Given the description of an element on the screen output the (x, y) to click on. 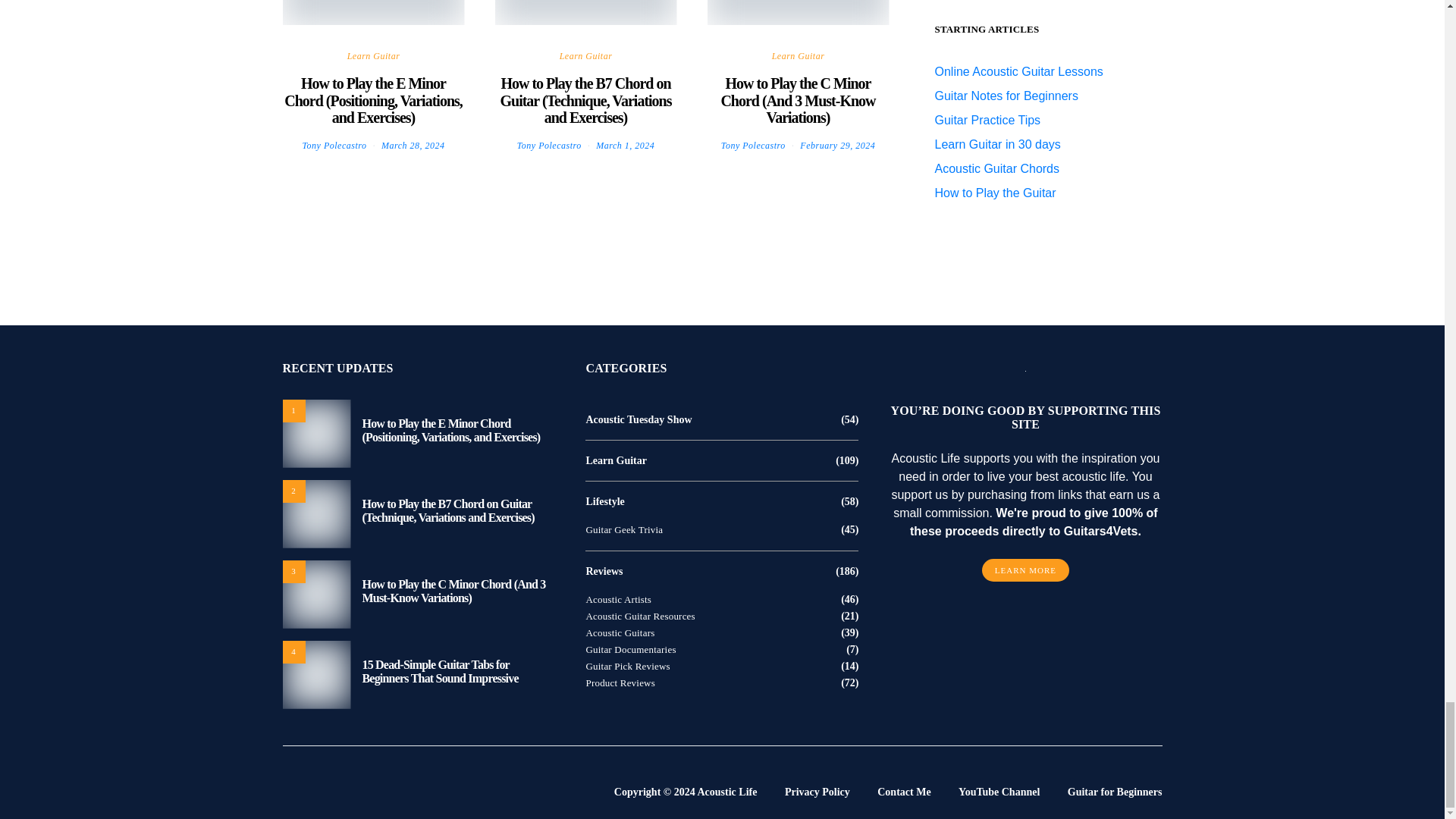
View all posts by Tony Polecastro (753, 145)
View all posts by Tony Polecastro (333, 145)
View all posts by Tony Polecastro (548, 145)
